Given the description of an element on the screen output the (x, y) to click on. 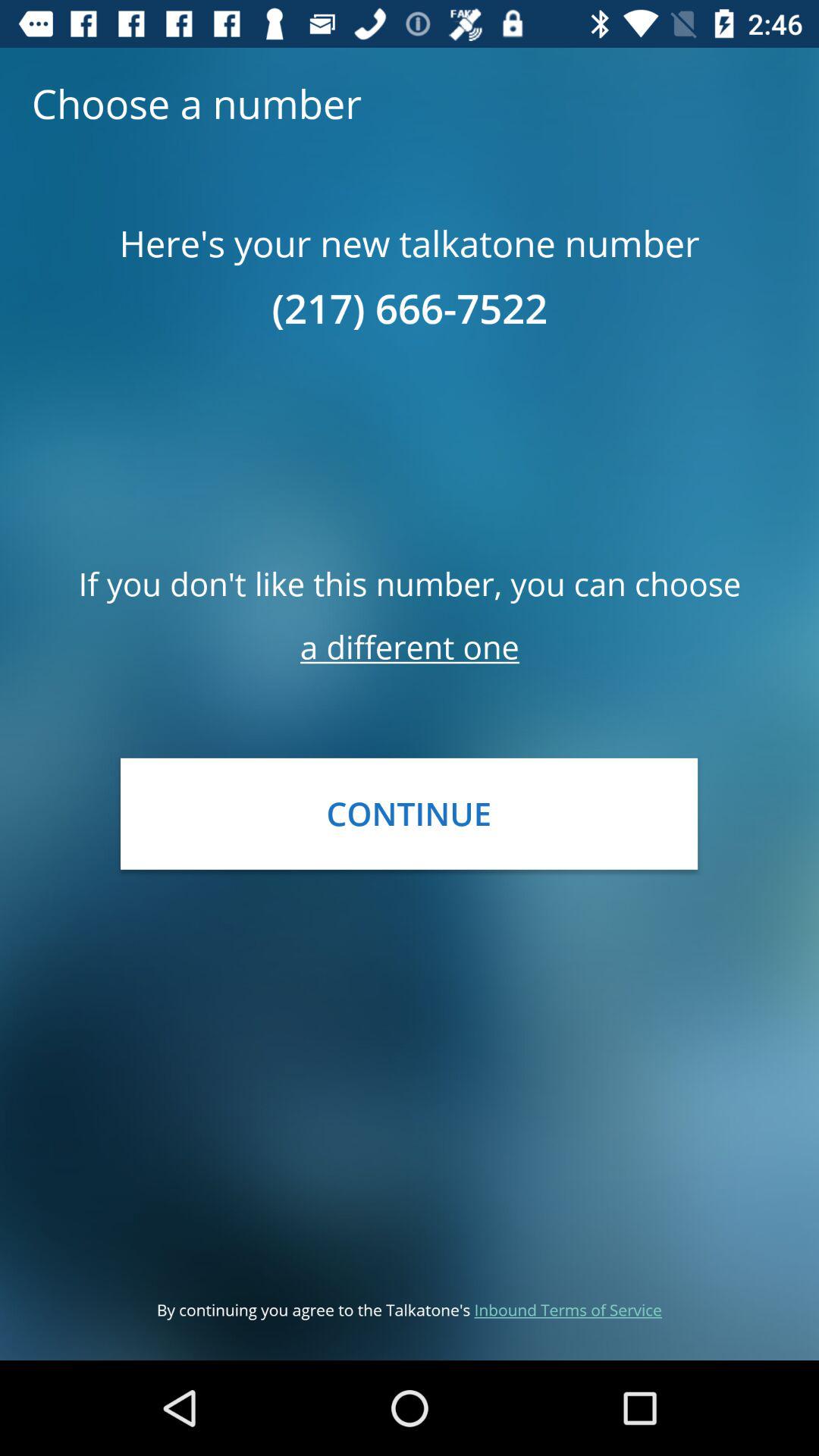
swipe to by continuing you icon (409, 1309)
